Given the description of an element on the screen output the (x, y) to click on. 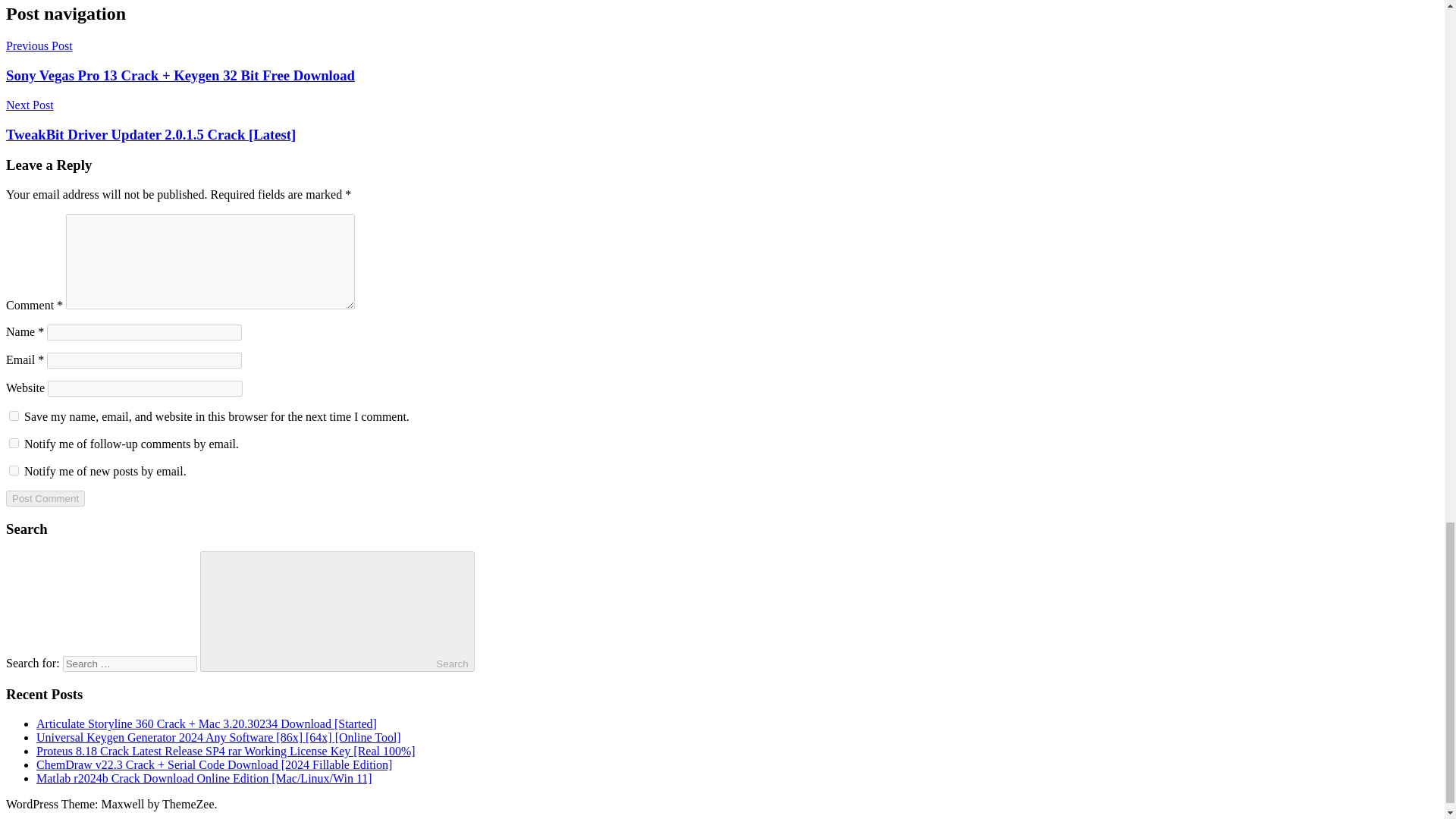
subscribe (13, 470)
subscribe (13, 442)
Search for: (129, 663)
Search (337, 611)
Post Comment (44, 498)
yes (13, 415)
Post Comment (44, 498)
